Given the description of an element on the screen output the (x, y) to click on. 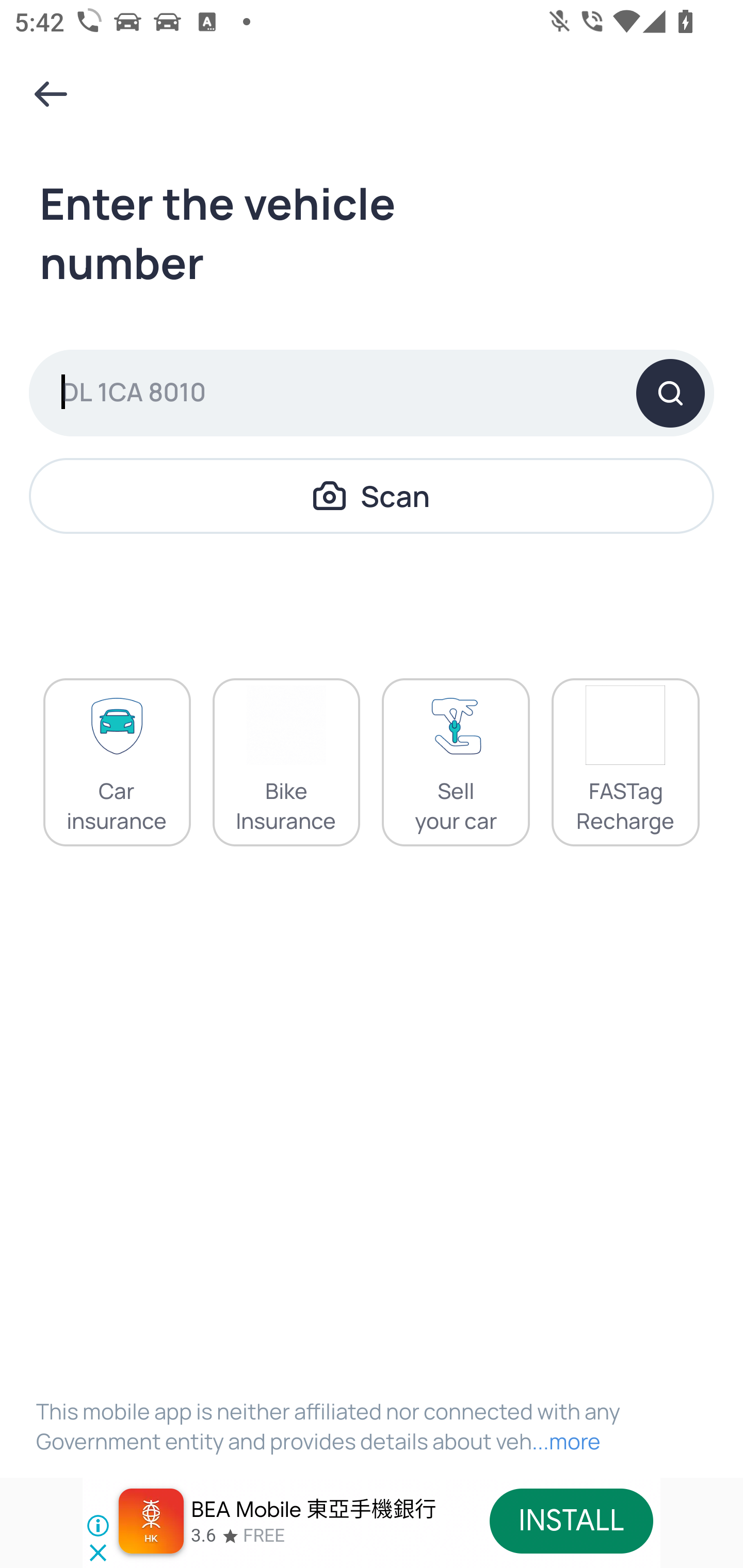
Navigate up (50, 93)
DL 1CA 8010 (371, 392)
Scan (371, 495)
Car
insurance (116, 762)
Bike
Insurance (286, 762)
Sell
your car (455, 762)
FASTag Recharge (625, 762)
INSTALL (570, 1520)
BEA Mobile 東亞手機銀行 (314, 1509)
3.6 (203, 1535)
FREE (263, 1535)
